Given the description of an element on the screen output the (x, y) to click on. 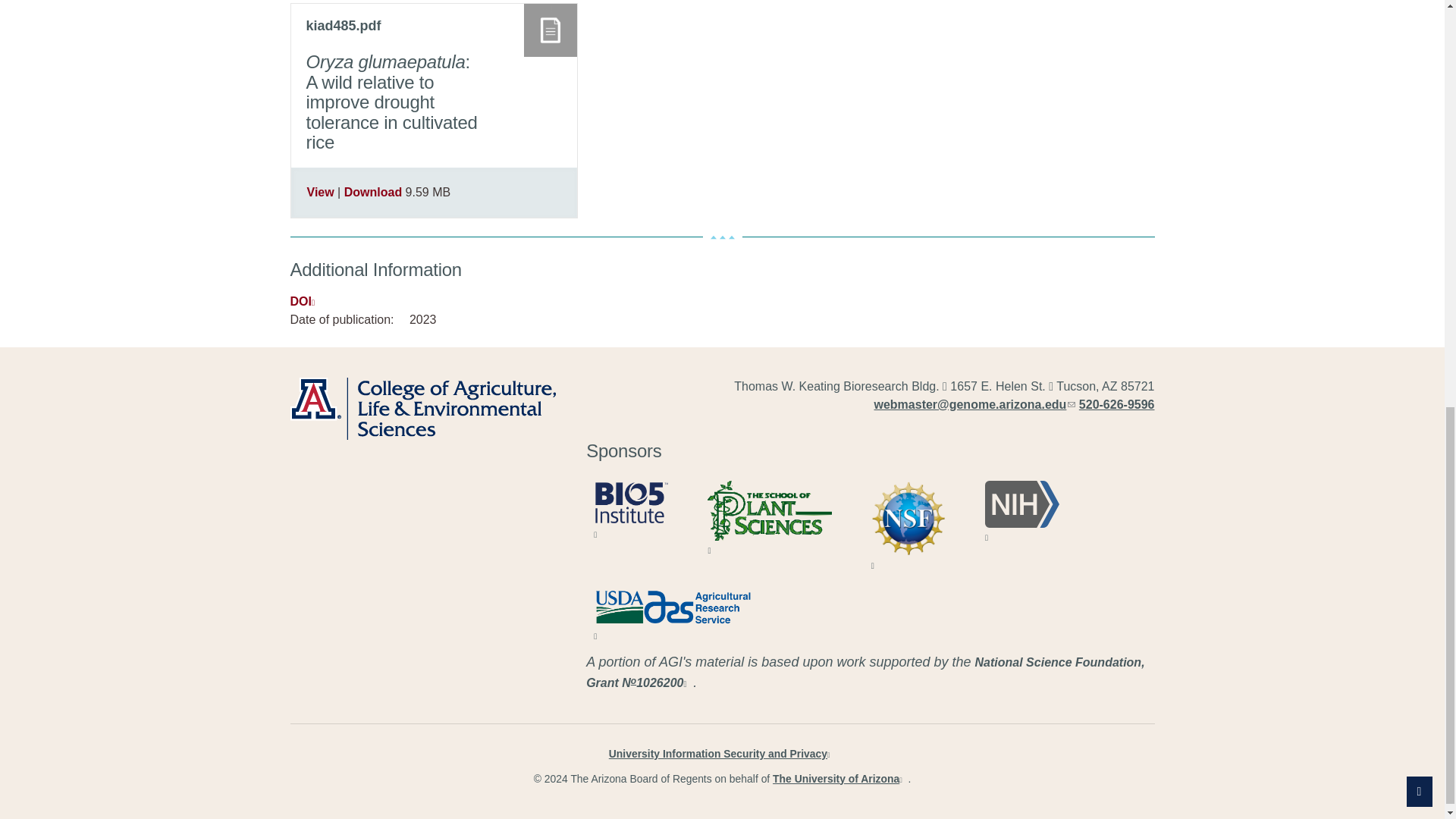
National Science Foundation (907, 518)
The School of Plant Sciences (769, 510)
Download (372, 192)
View (319, 192)
520-626-9596 (1116, 404)
DOI (304, 300)
Bio5 Institute (631, 502)
